Given the description of an element on the screen output the (x, y) to click on. 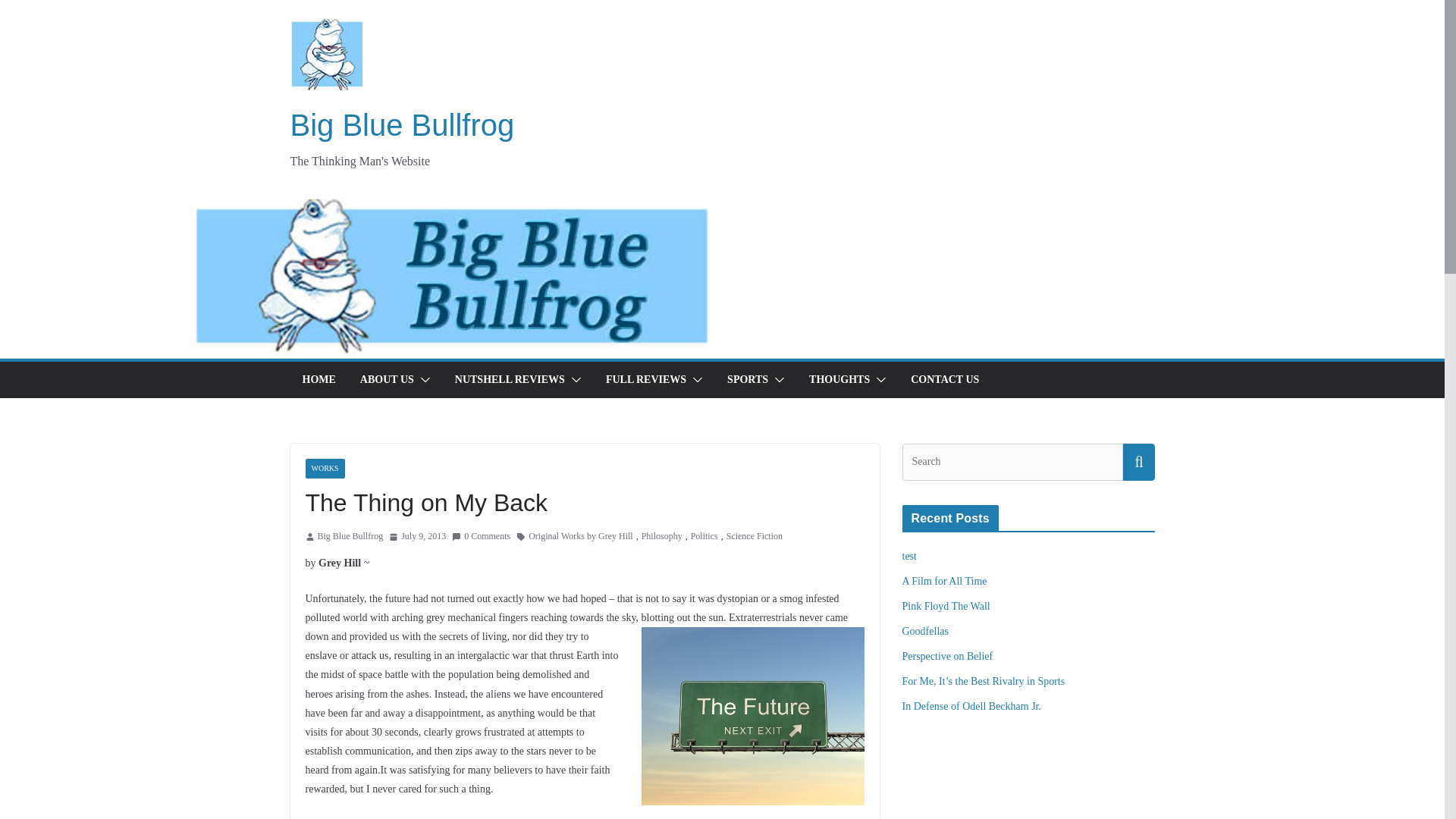
Original Works by Grey Hill (579, 536)
Philosophy (662, 536)
THOUGHTS (839, 379)
ABOUT US (386, 379)
Big Blue Bullfrog (349, 536)
Politics (703, 536)
3:12 pm (416, 536)
CONTACT US (944, 379)
HOME (317, 379)
July 9, 2013 (416, 536)
0 Comments (481, 536)
Big Blue Bullfrog (349, 536)
SPORTS (747, 379)
NUTSHELL REVIEWS (509, 379)
Big Blue Bullfrog (401, 124)
